Given the description of an element on the screen output the (x, y) to click on. 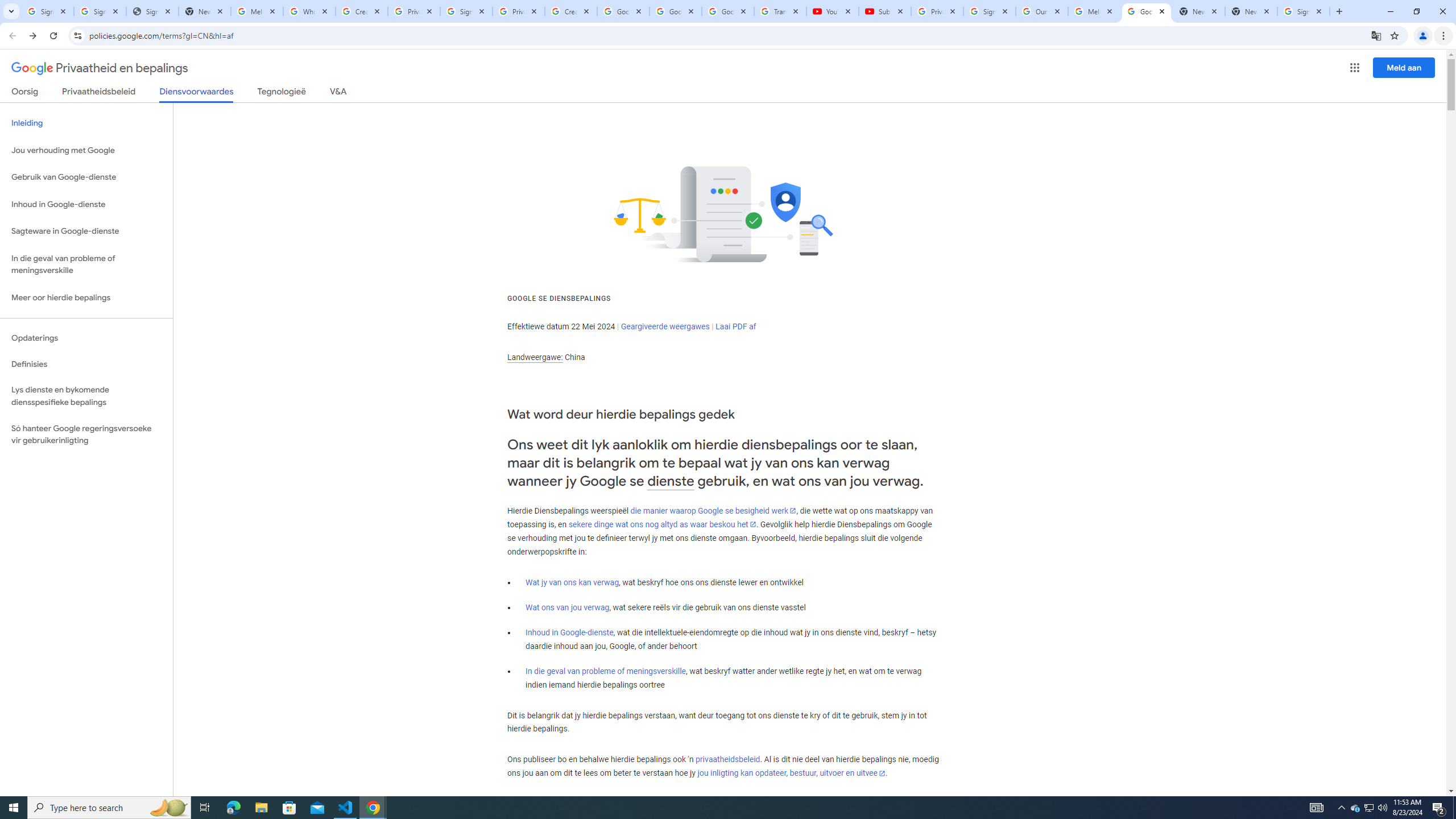
Lys dienste en bykomende diensspesifieke bepalings (86, 396)
Wat ons van jou verwag (567, 606)
Sign in - Google Accounts (99, 11)
dienste (670, 480)
Inleiding (86, 122)
Google-programme (1355, 67)
Inhoud in Google-dienste (568, 632)
sekere dinge wat ons nog altyd as waar beskou het (662, 524)
Meld aan (1404, 67)
Subscriptions - YouTube (884, 11)
